Given the description of an element on the screen output the (x, y) to click on. 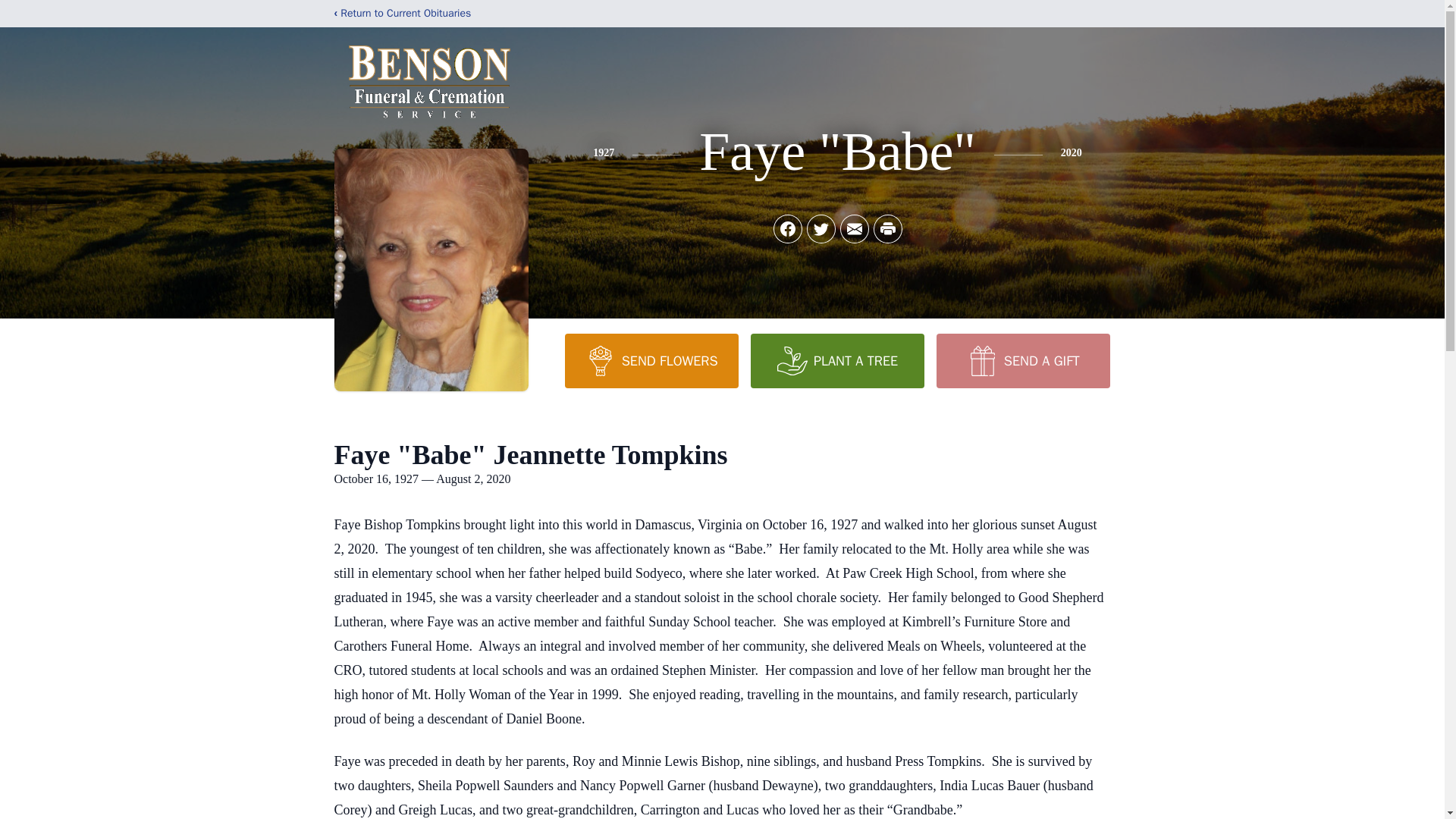
SEND FLOWERS (651, 360)
PLANT A TREE (837, 360)
SEND A GIFT (1022, 360)
